Given the description of an element on the screen output the (x, y) to click on. 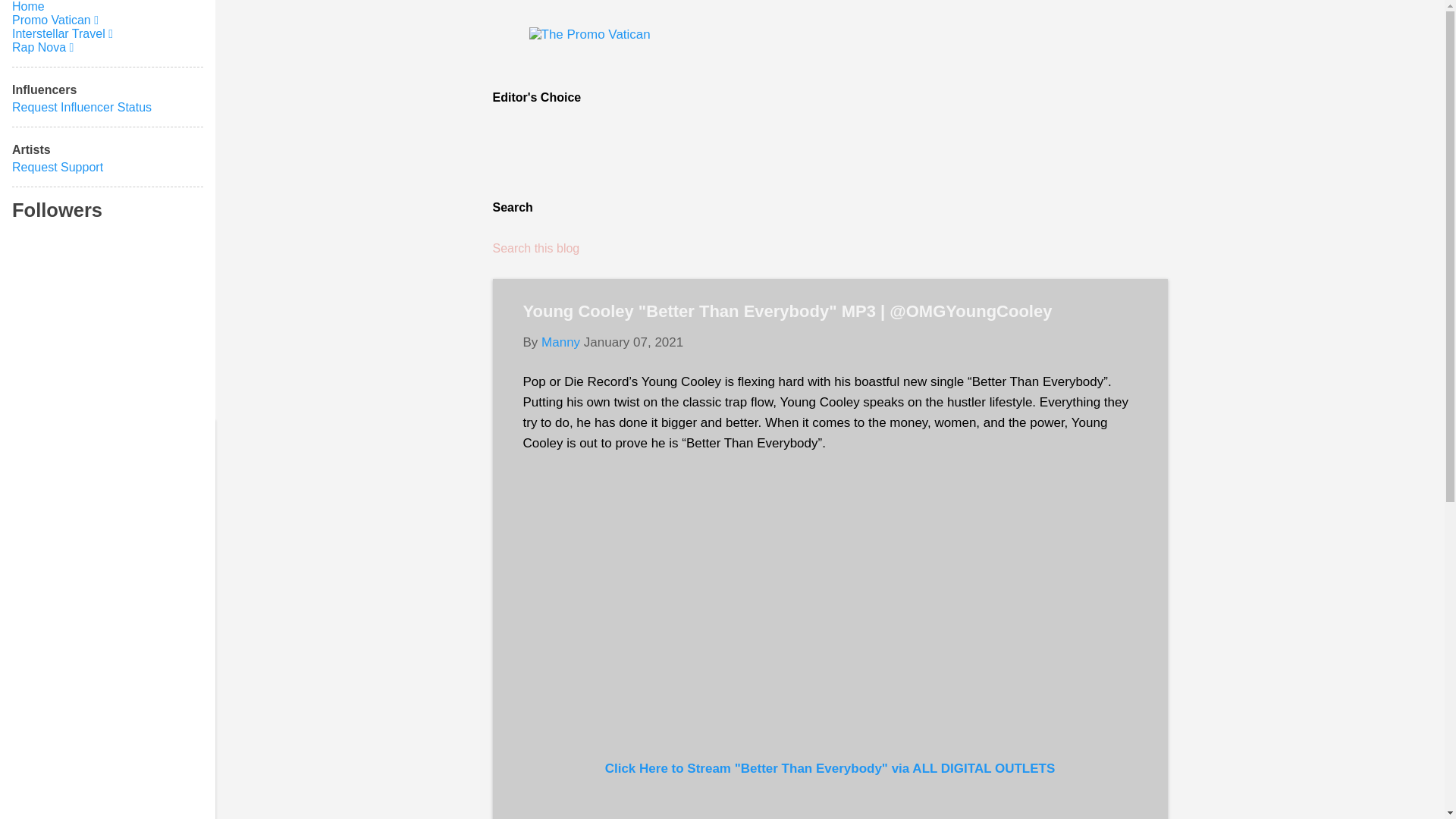
January 07, 2021 (632, 341)
Search (33, 18)
Home (28, 6)
Manny (560, 341)
Request Influencer Status (81, 106)
author profile (560, 341)
permanent link (632, 341)
Request Support (57, 166)
